Given the description of an element on the screen output the (x, y) to click on. 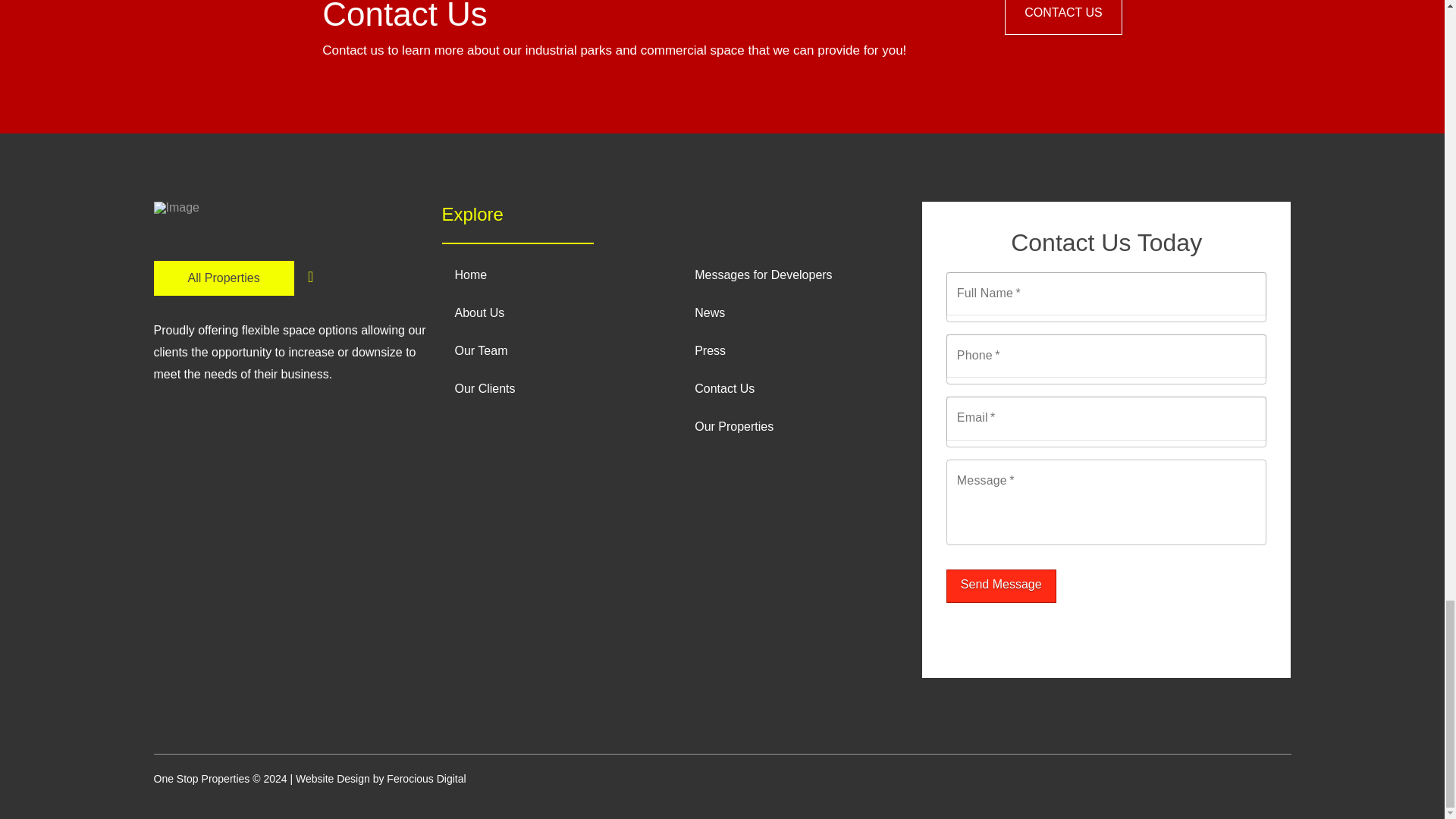
Our Team (554, 351)
Our Clients (554, 388)
News (794, 313)
Press (794, 351)
Contact Us (794, 388)
All Properties (223, 278)
Ferocious Digital (426, 778)
Send Message (1001, 586)
Home (554, 275)
Messages for Developers (794, 275)
